Given the description of an element on the screen output the (x, y) to click on. 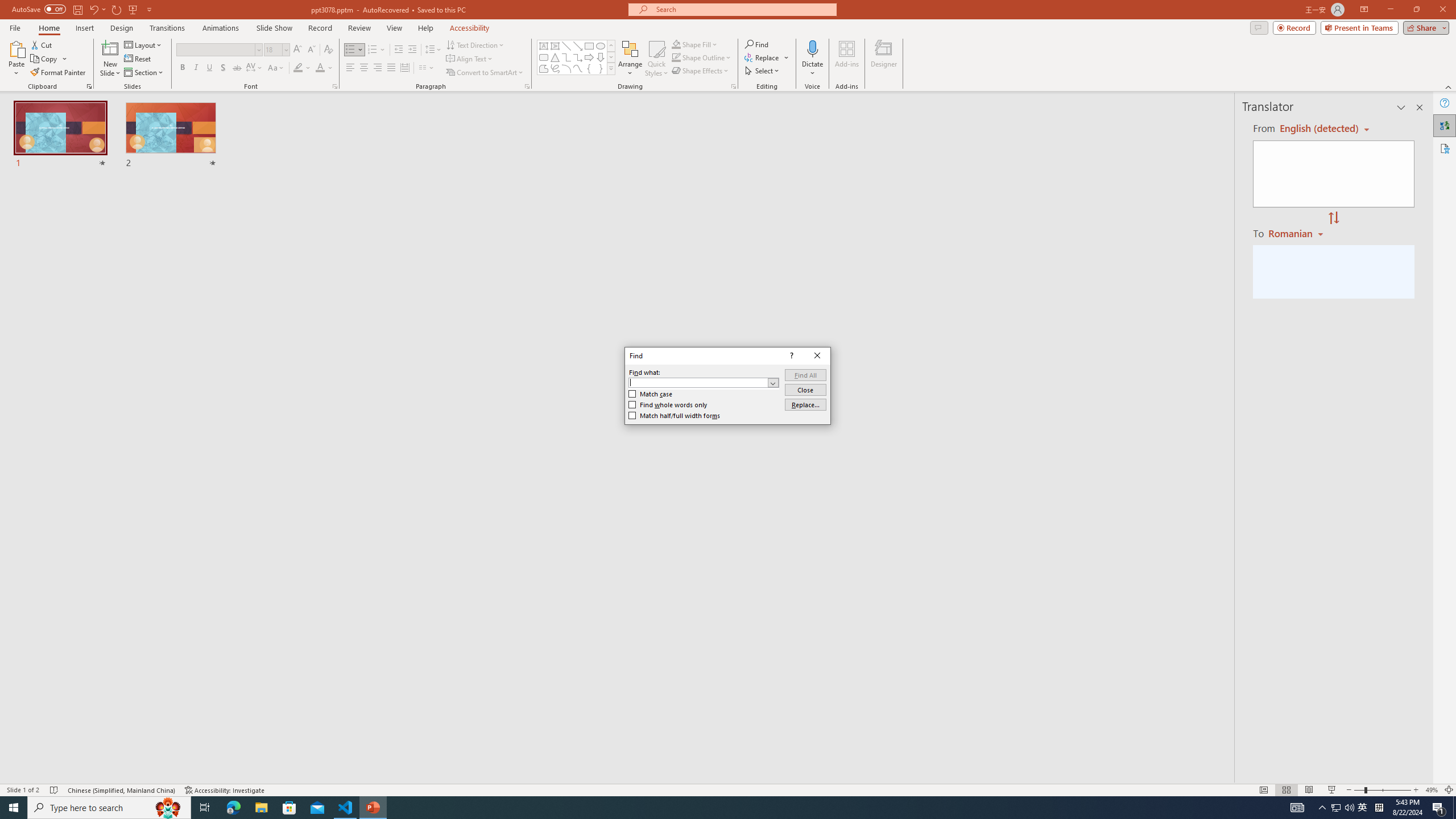
Match half/full width forms (674, 415)
Romanian (1296, 232)
